Given the description of an element on the screen output the (x, y) to click on. 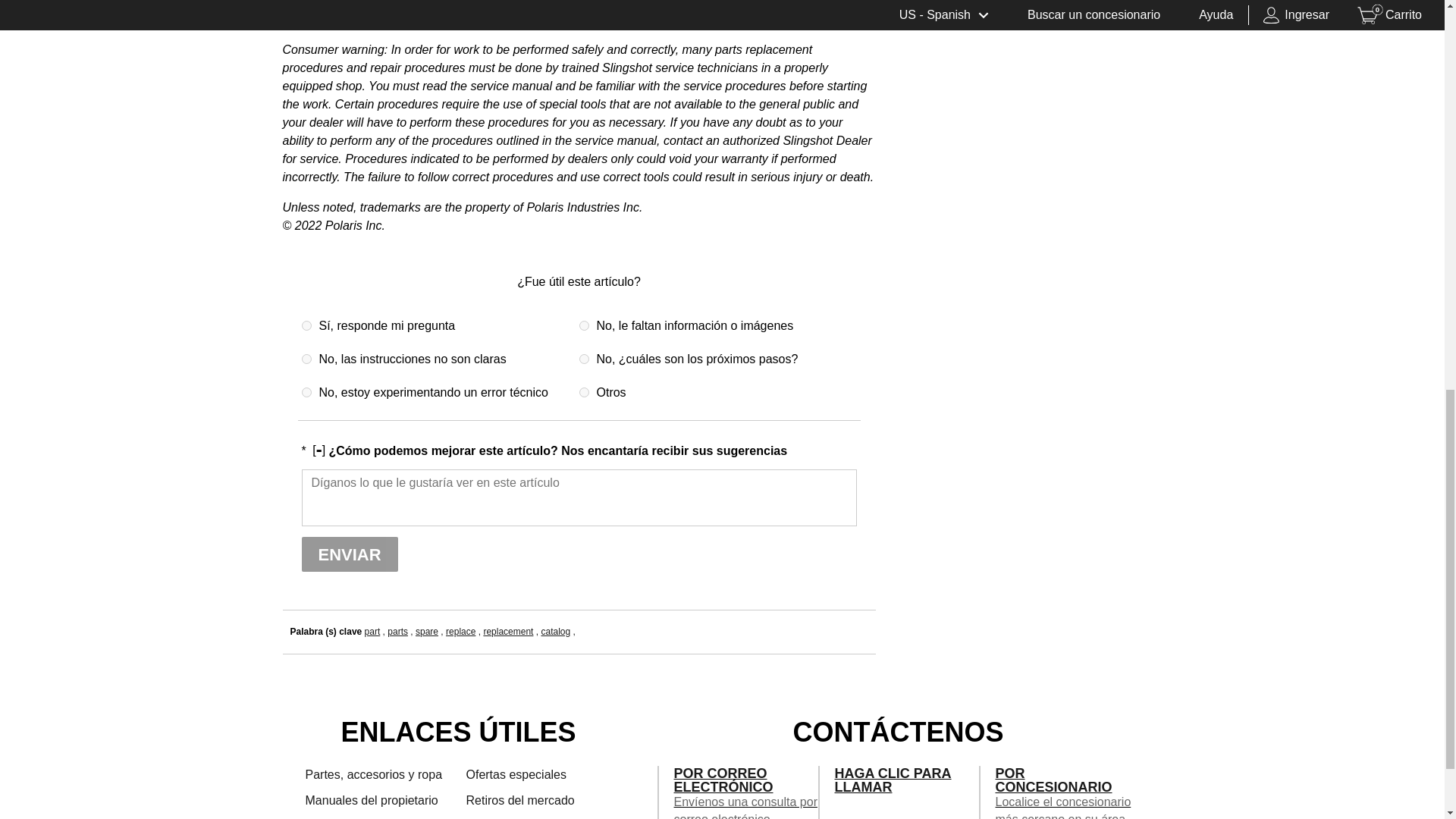
No. The instructions are unclear (306, 358)
No. I am experiencing a technical error (306, 392)
No. What are the next steps? (584, 358)
Yes. It answers my question (306, 325)
No. It is missing information or visuals (584, 325)
Other (584, 392)
